Given the description of an element on the screen output the (x, y) to click on. 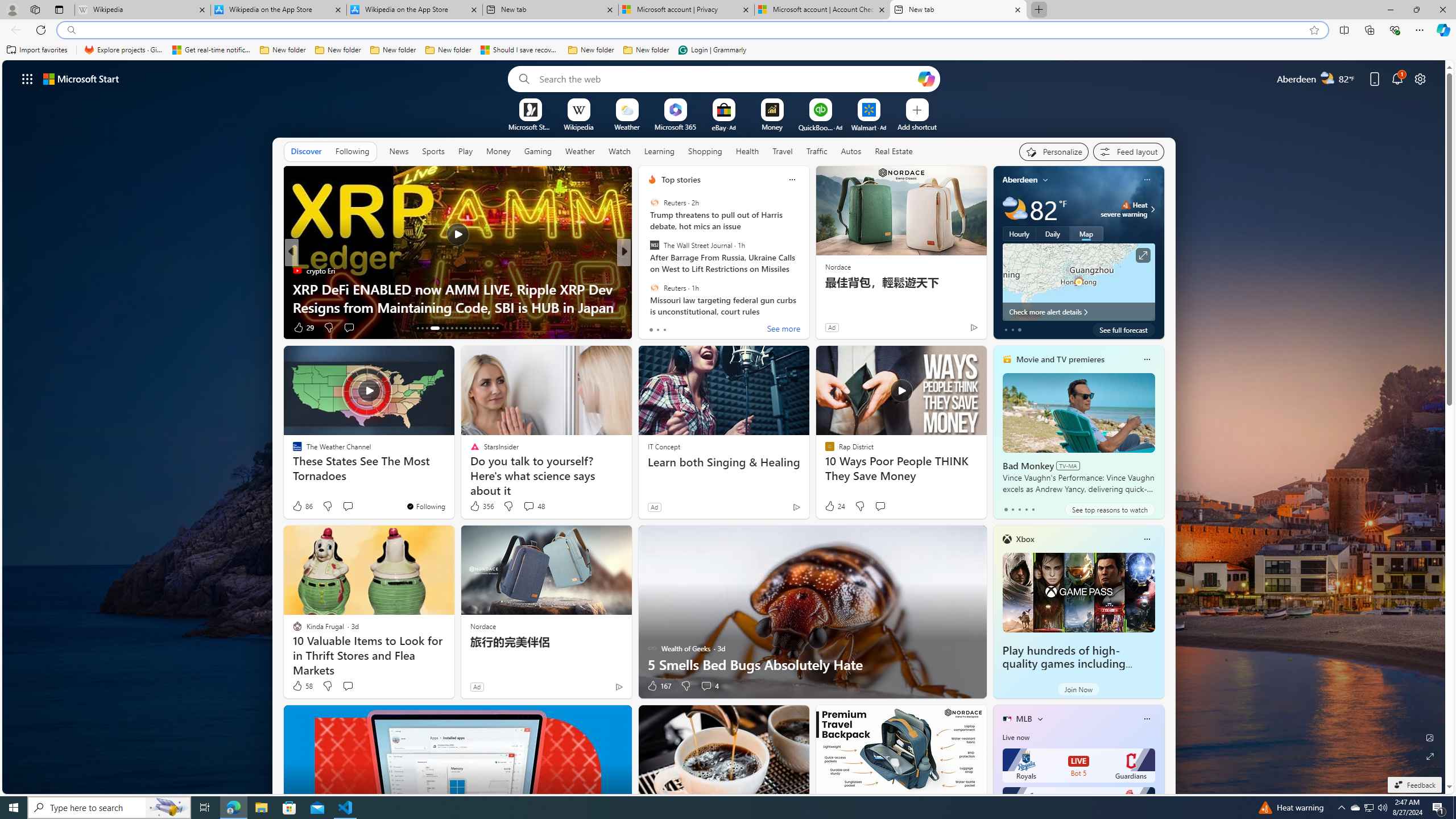
Lifehacker (647, 270)
Should I save recovered Word documents? - Microsoft Support (519, 49)
The Motley Fool (647, 288)
GitHub is the Best Place for Free and Open Source Software (807, 298)
How to Enable and Disable the Windows Key (807, 307)
Learn both Singing & Healing (723, 462)
Page settings (1420, 78)
More interests (1039, 718)
Real Estate (893, 151)
View comments 1 Comment (702, 327)
Play (465, 151)
Enter your search term (726, 78)
